Given the description of an element on the screen output the (x, y) to click on. 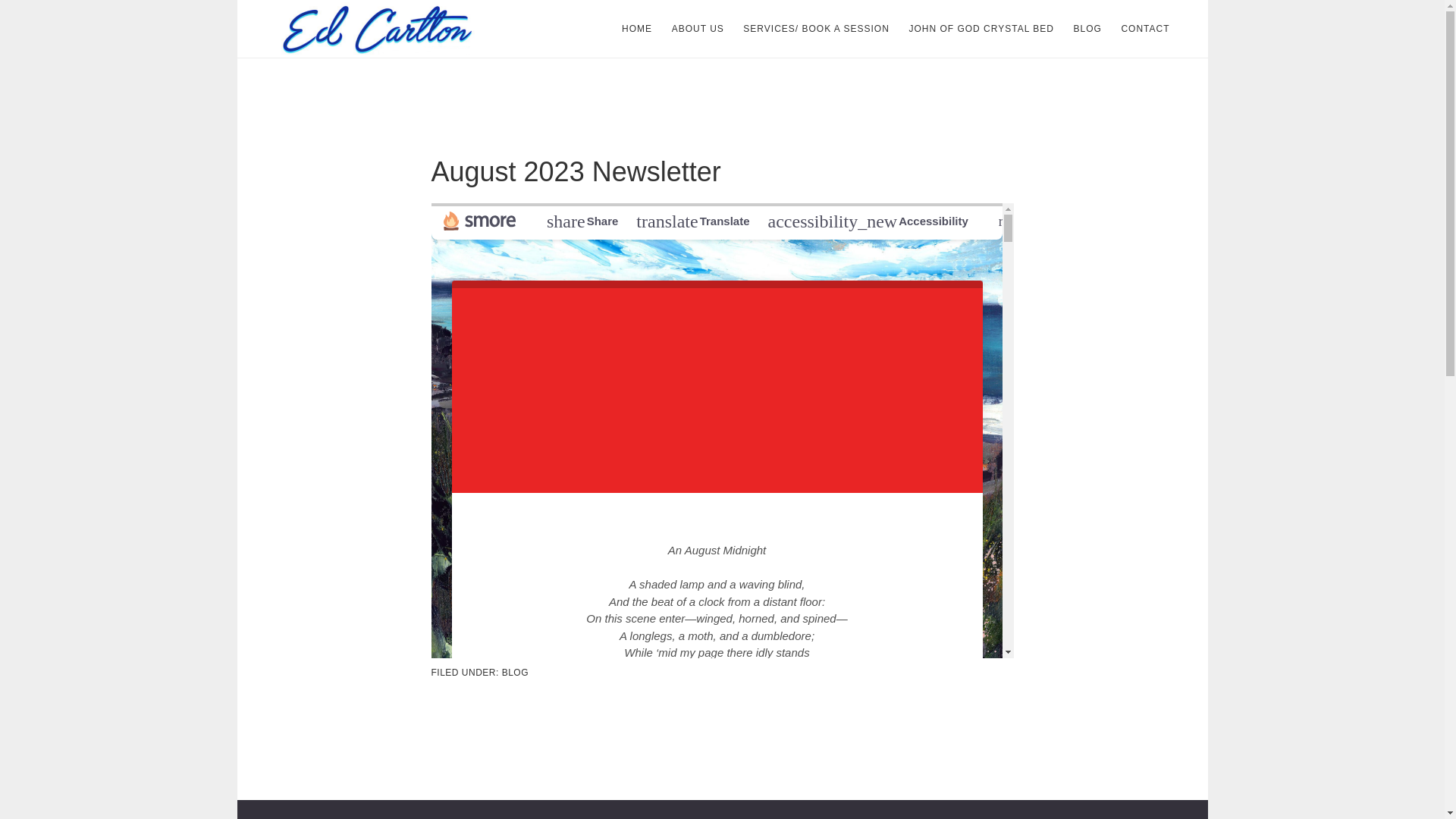
BLOG (515, 672)
BLOG (1086, 28)
ABOUT US (697, 28)
CONTACT (1144, 28)
ED CARLTON (380, 28)
HOME (636, 28)
JOHN OF GOD CRYSTAL BED (981, 28)
